Given the description of an element on the screen output the (x, y) to click on. 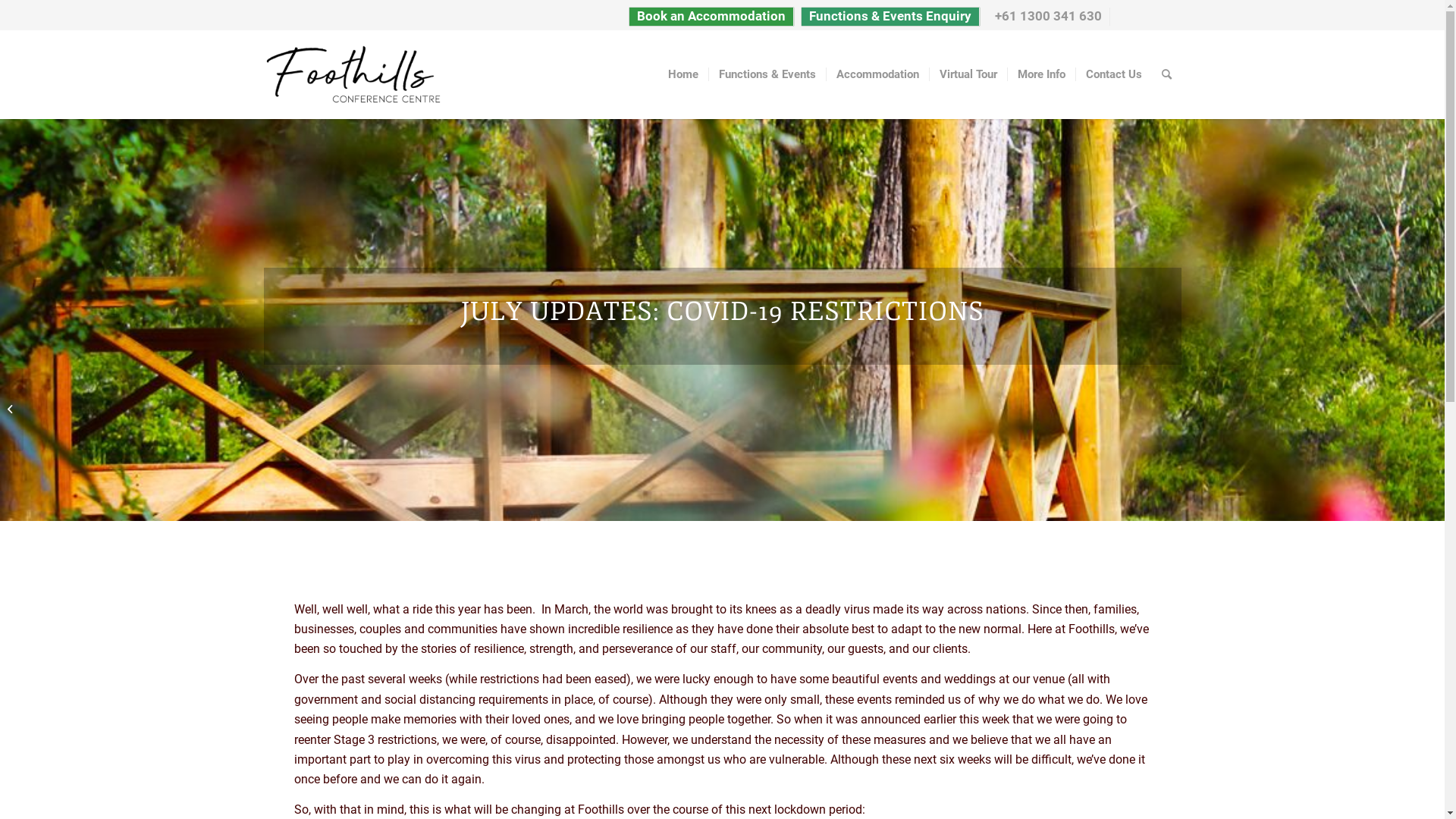
Contact Us Element type: text (1113, 74)
Virtual Tour Element type: text (967, 74)
Accommodation Element type: text (876, 74)
+61 1300 341 630 Element type: text (1047, 16)
Functions & Events Element type: text (766, 74)
Home Element type: text (683, 74)
More Info Element type: text (1041, 74)
Functions & Events Enquiry Element type: text (889, 16)
Book an Accommodation Element type: text (711, 16)
